Given the description of an element on the screen output the (x, y) to click on. 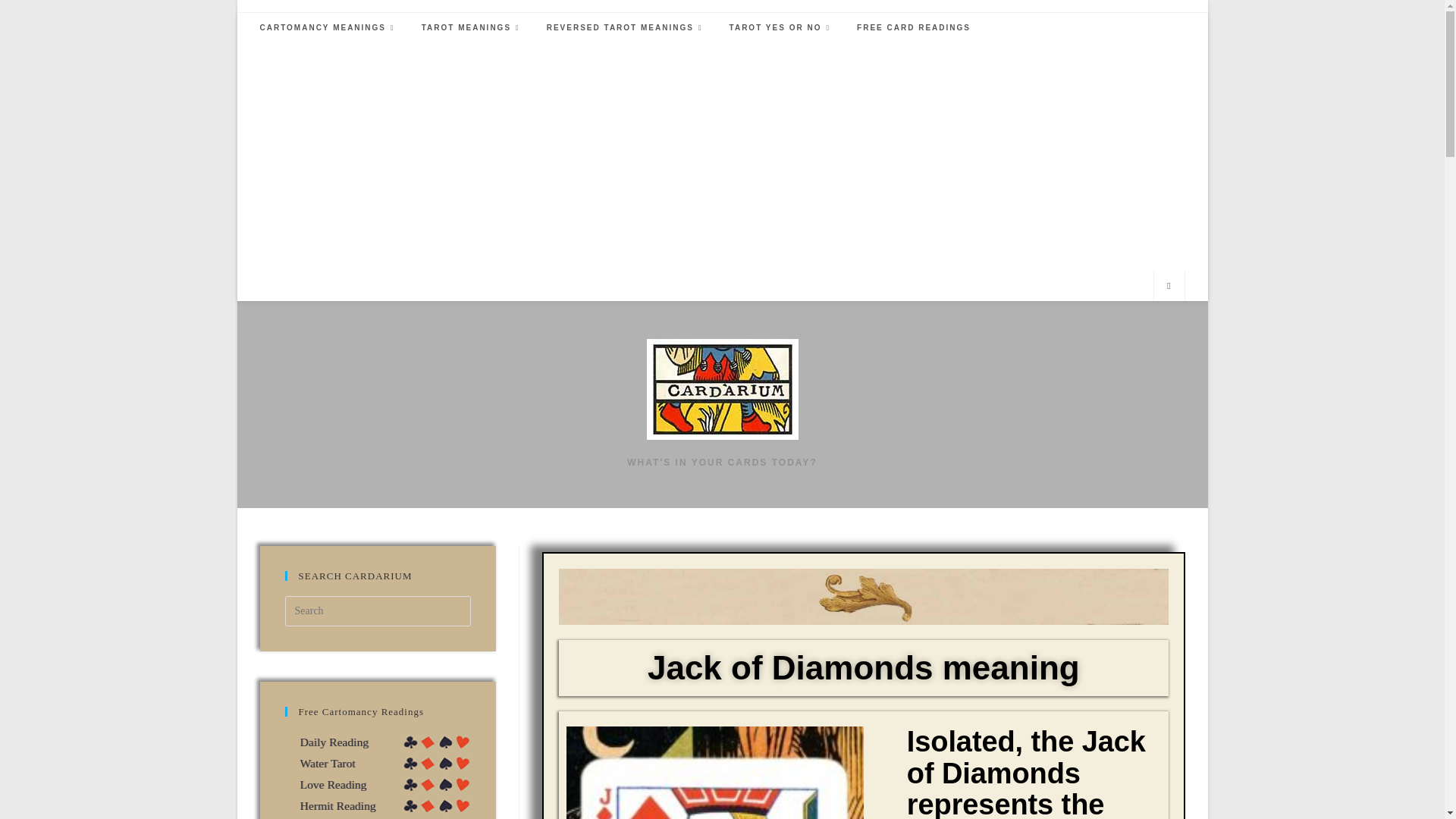
Jack of diamonds (714, 772)
REVERSED TAROT MEANINGS (626, 28)
TAROT YES OR NO (781, 28)
CARTOMANCY MEANINGS (329, 28)
TAROT MEANINGS (472, 28)
FREE CARD READINGS (913, 28)
